Given the description of an element on the screen output the (x, y) to click on. 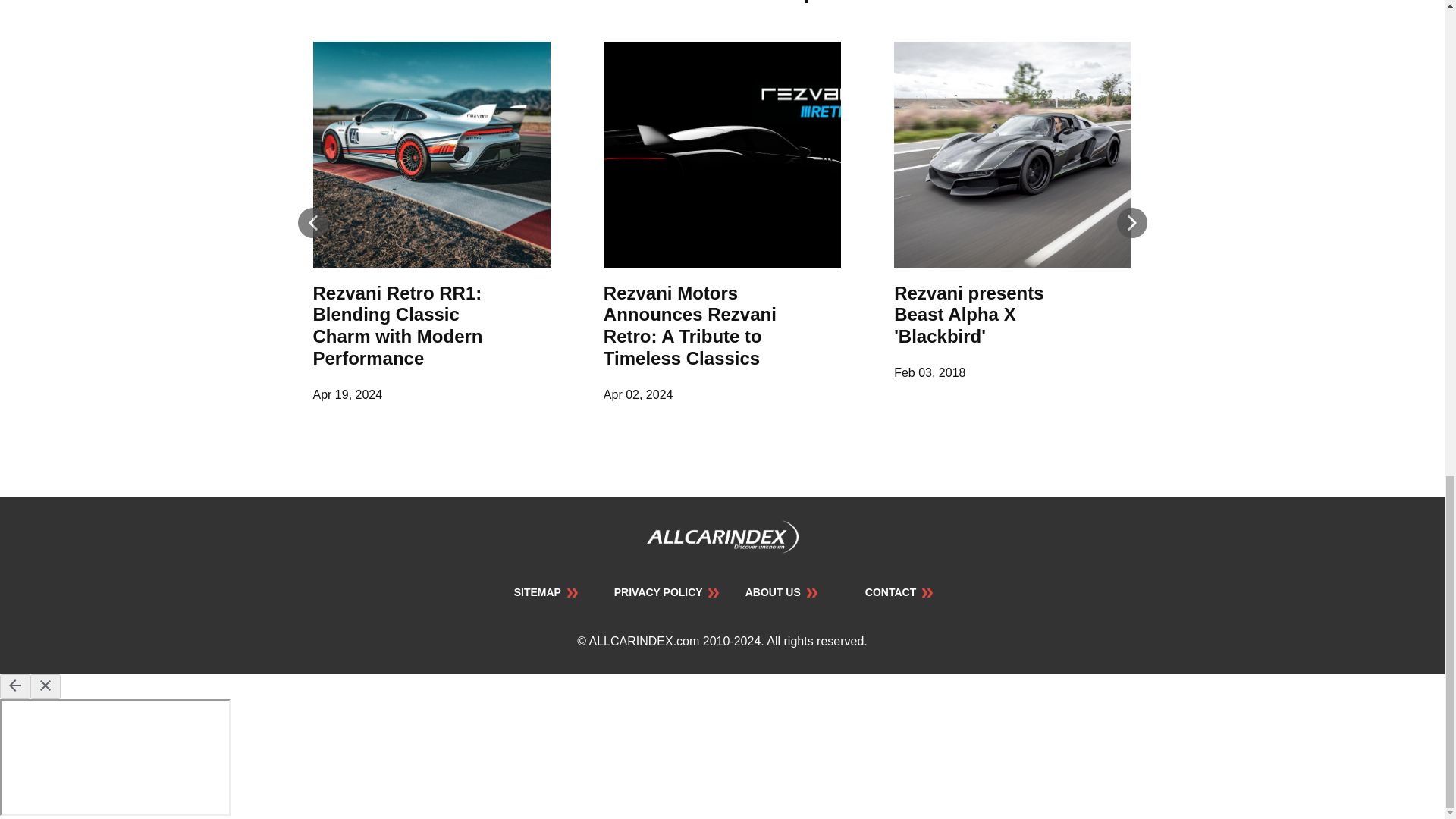
Rezvani presents Beast Alpha X 'Blackbird' (968, 314)
